Given the description of an element on the screen output the (x, y) to click on. 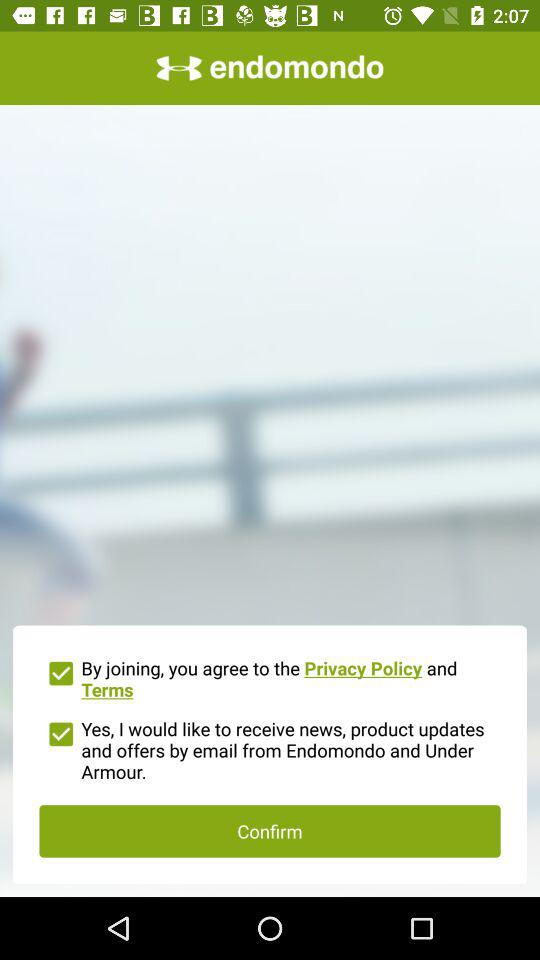
choose the icon below by joining you item (269, 748)
